Given the description of an element on the screen output the (x, y) to click on. 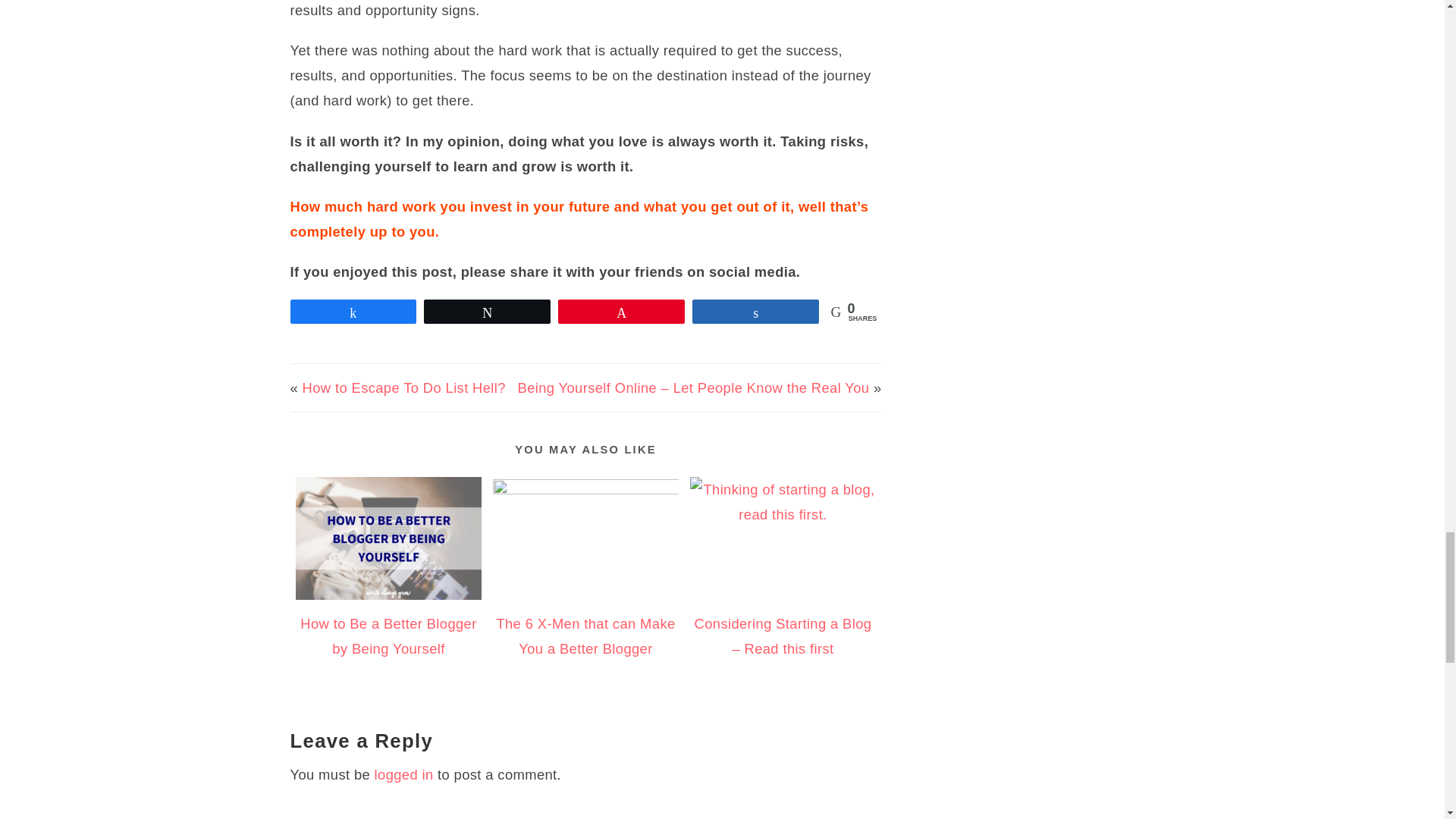
logged in (403, 774)
The 6 X-Men that can Make You a Better Blogger (585, 635)
How to Be a Better Blogger by Being Yourself (387, 635)
How to Escape To Do List Hell? (403, 387)
